Given the description of an element on the screen output the (x, y) to click on. 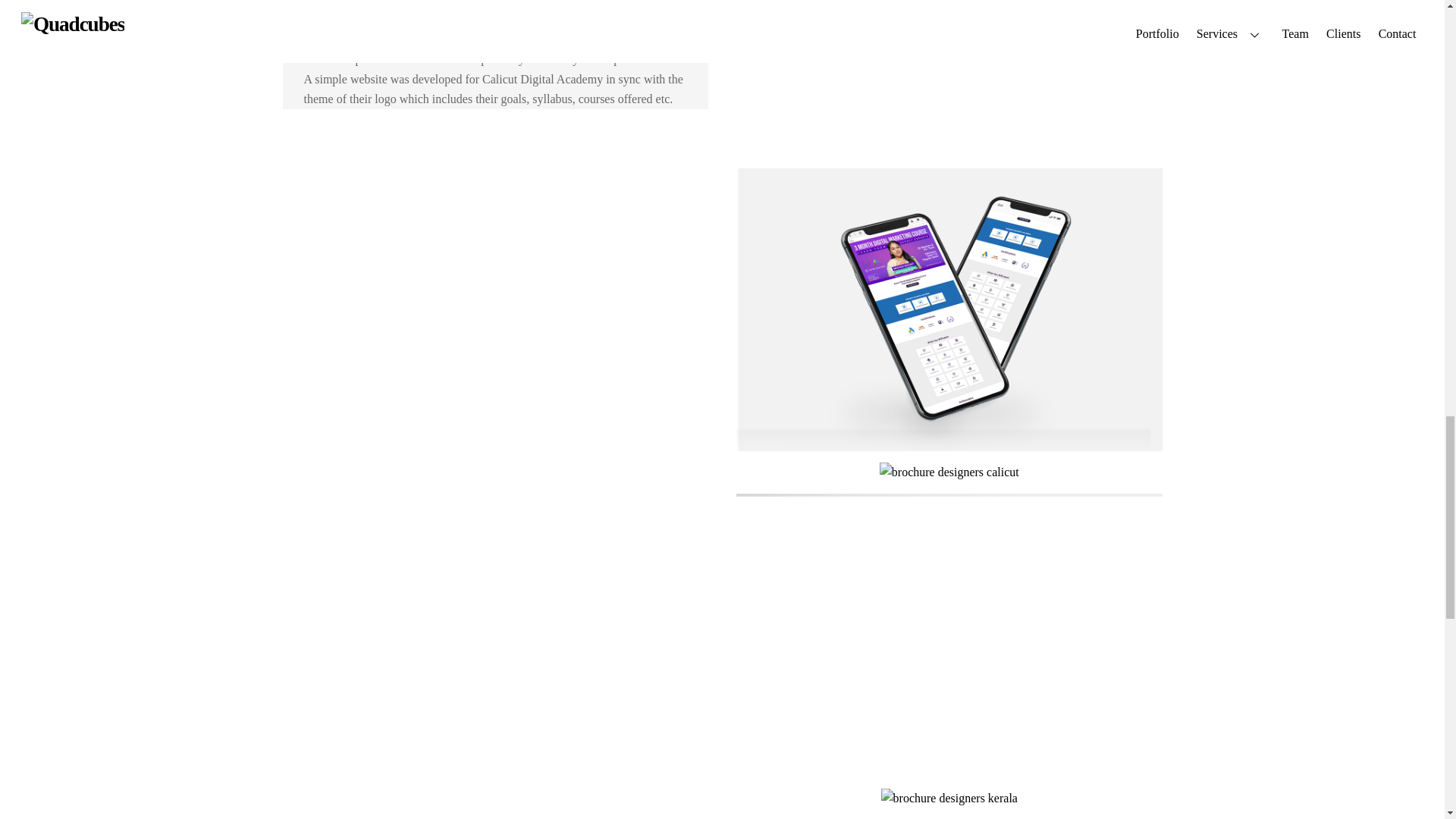
brochure designers calicut (949, 472)
website development company in calicut (948, 77)
website creators in calicut (948, 308)
brochure designers kerala (948, 798)
brochure designing (948, 635)
